Given the description of an element on the screen output the (x, y) to click on. 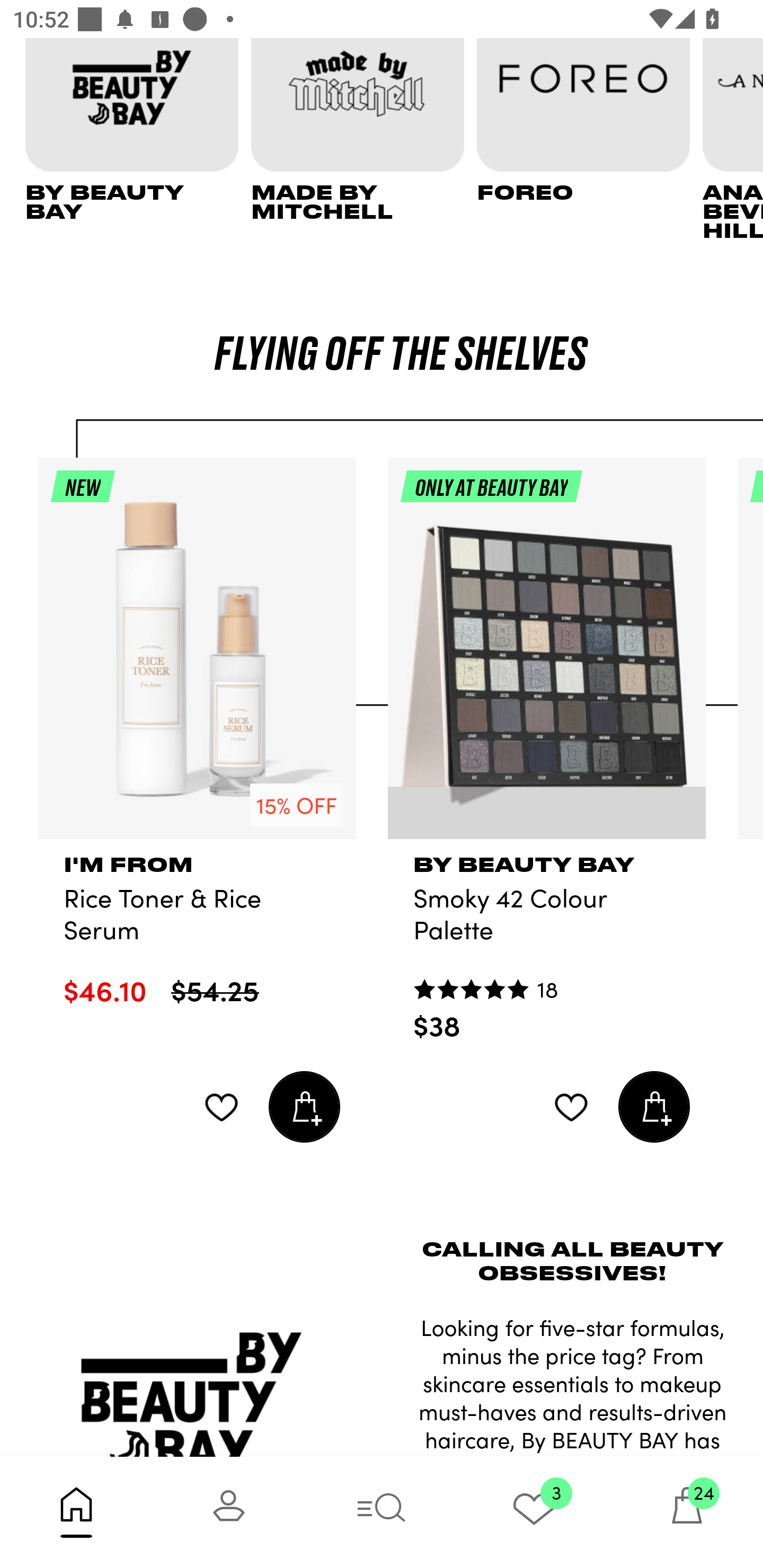
BY BEAUTY BAY (138, 139)
MADE BY MITCHELL (363, 139)
FOREO (589, 139)
NEW 15% OFF (197, 655)
ONLY AT BEAUTY BAY (546, 655)
I'M FROM Rice Toner & Rice Serum $46.10 $54.25 (197, 938)
BY BEAUTY BAY Smoky 42 Colour Palette 18 $38 (546, 955)
3 (533, 1512)
24 (686, 1512)
